Given the description of an element on the screen output the (x, y) to click on. 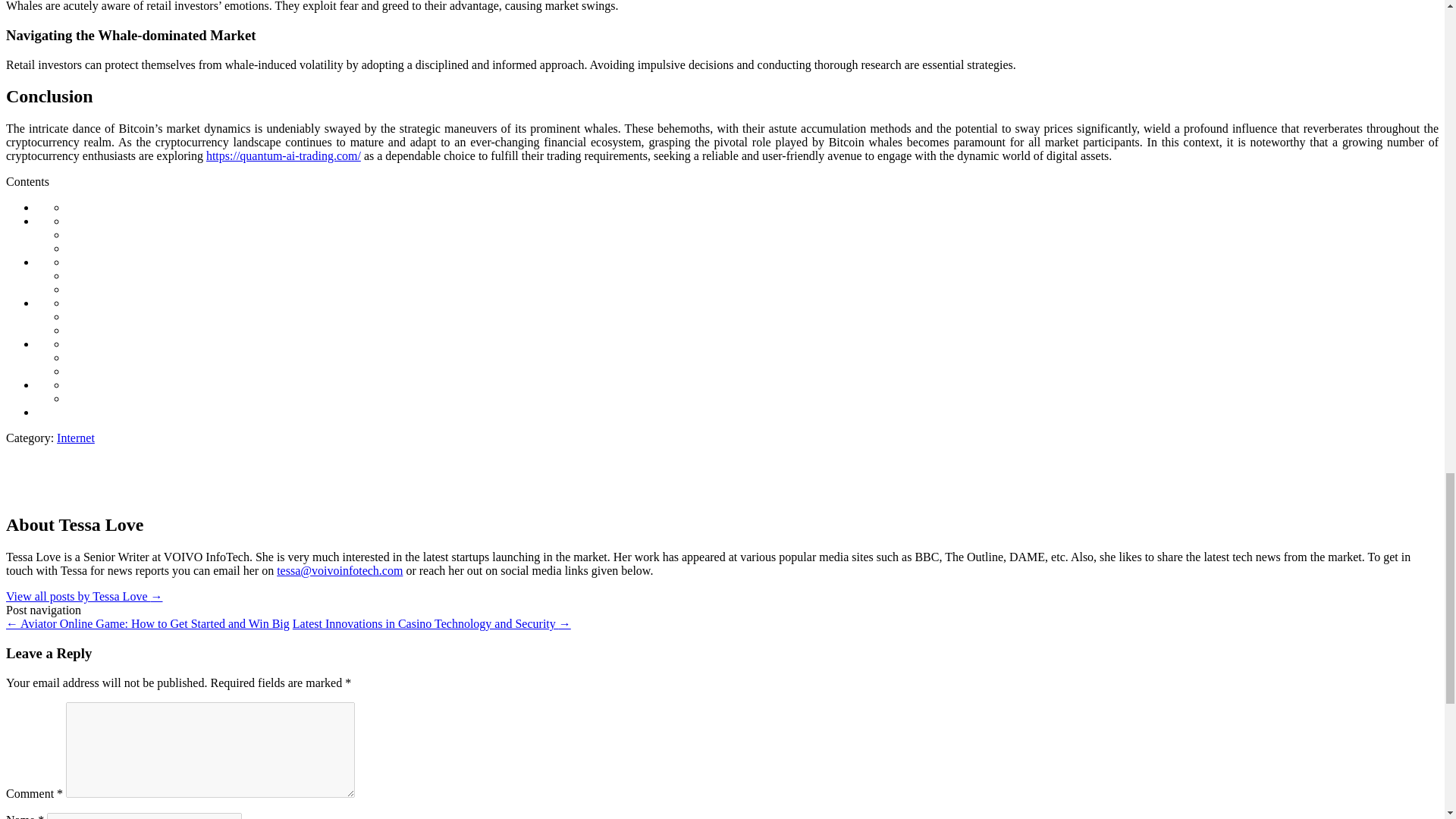
Internet (75, 437)
